Given the description of an element on the screen output the (x, y) to click on. 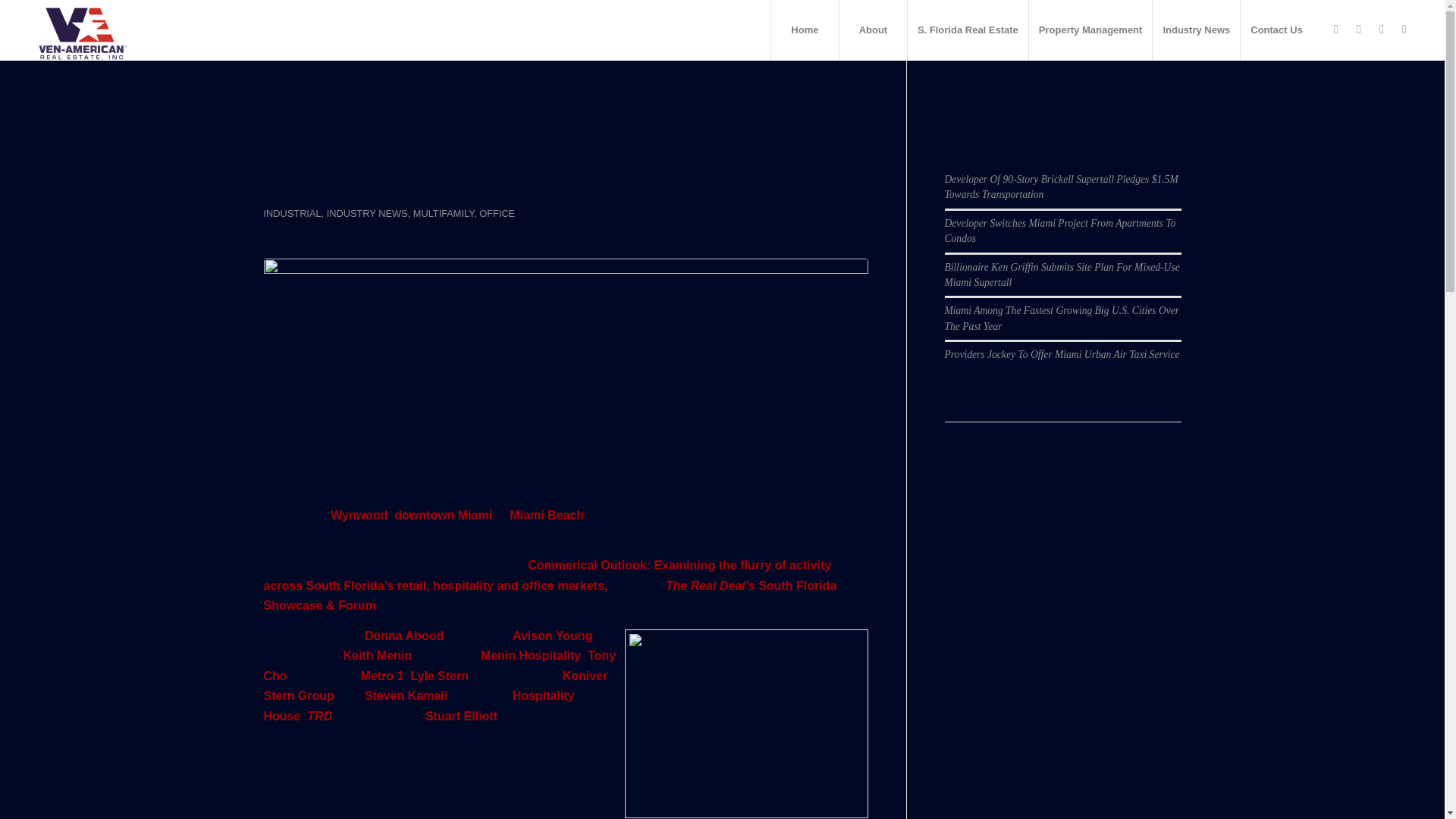
LinkedIn (1381, 29)
INDUSTRY NEWS (366, 213)
Home (804, 30)
OFFICE (497, 213)
Facebook (1336, 29)
Developer Switches Miami Project From Apartments To Condos (1060, 230)
Industry News (1195, 30)
